Given the description of an element on the screen output the (x, y) to click on. 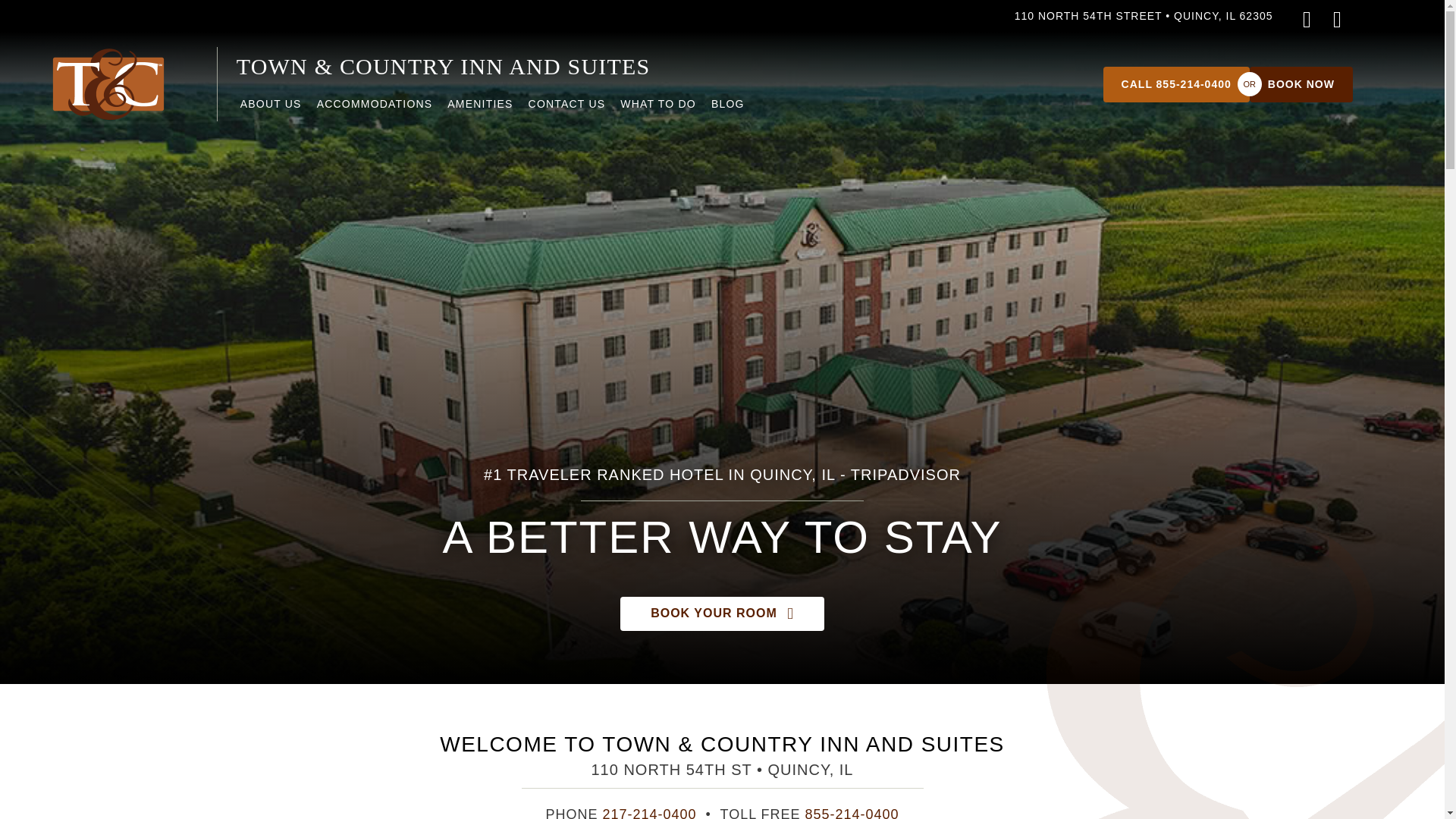
ACCOMMODATIONS (374, 107)
217-214-0400 (648, 812)
AMENITIES (479, 107)
WHAT TO DO (657, 107)
855-214-0400 (852, 812)
BOOK YOUR ROOM (722, 613)
CALL 855-214-0400 (1176, 83)
BOOK NOW (1300, 83)
CONTACT US (566, 107)
BLOG (727, 107)
ABOUT US (270, 107)
